Given the description of an element on the screen output the (x, y) to click on. 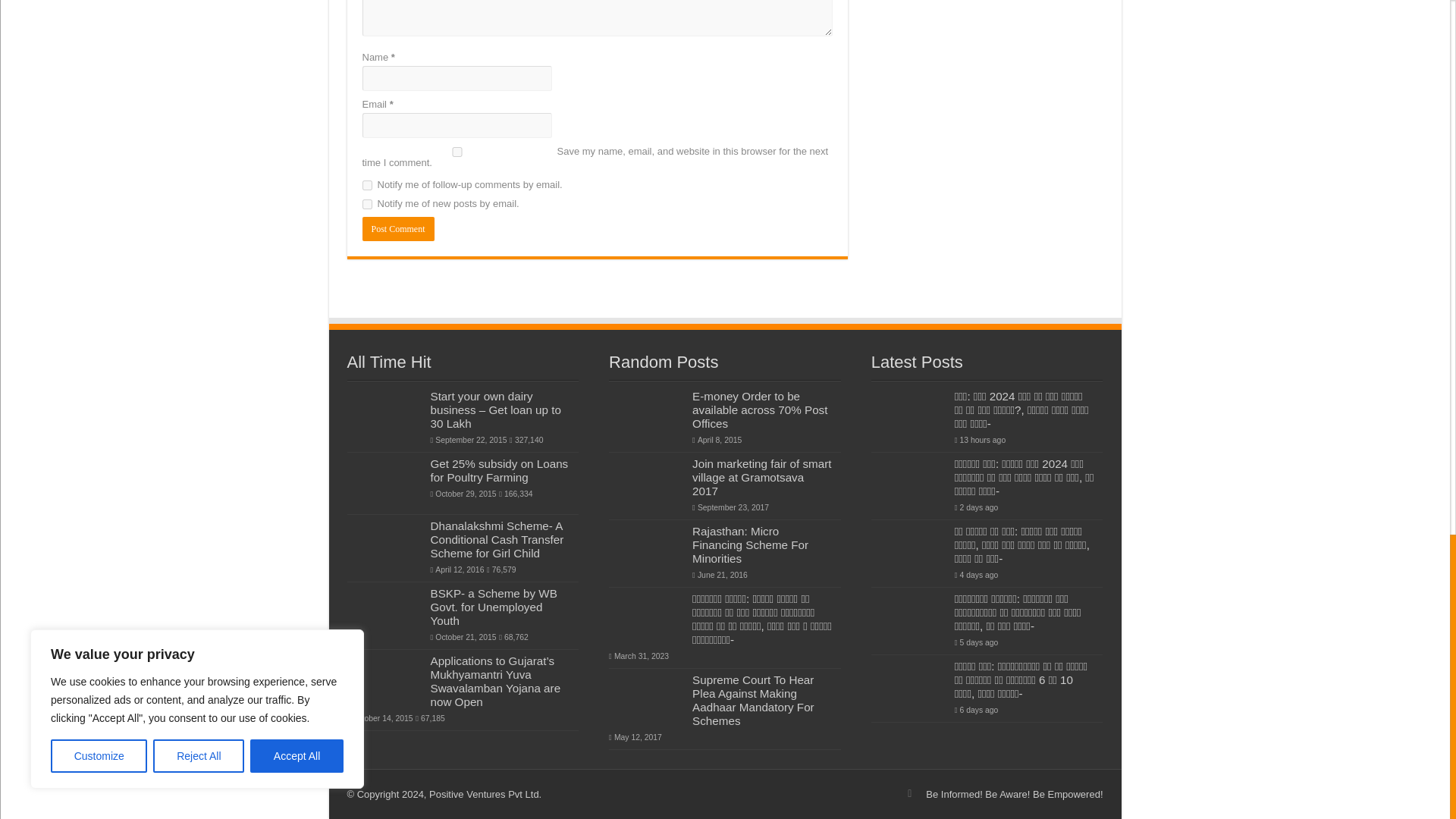
subscribe (367, 204)
Post Comment (397, 228)
subscribe (367, 185)
yes (456, 152)
